Given the description of an element on the screen output the (x, y) to click on. 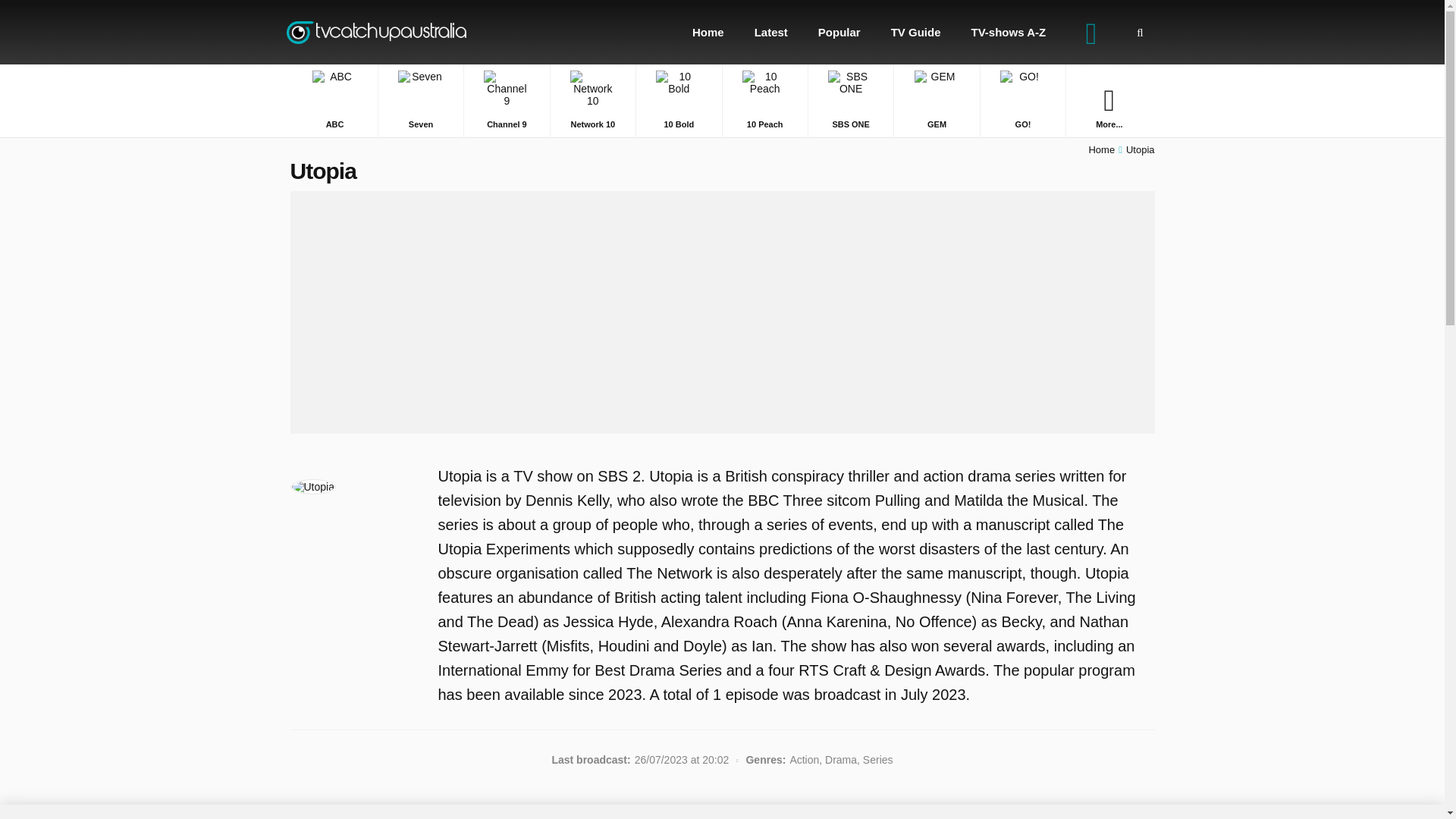
Seven (420, 100)
ABC (334, 100)
10 Peach (764, 100)
GEM (935, 100)
Home (708, 32)
Channel 9 (506, 100)
GEM (935, 100)
SBS ONE (850, 100)
TV-shows A-Z (1008, 32)
GO! (1022, 100)
10 Bold (678, 100)
SBS ONE (850, 100)
ABC (334, 100)
Home (1101, 149)
Latest (771, 32)
